Given the description of an element on the screen output the (x, y) to click on. 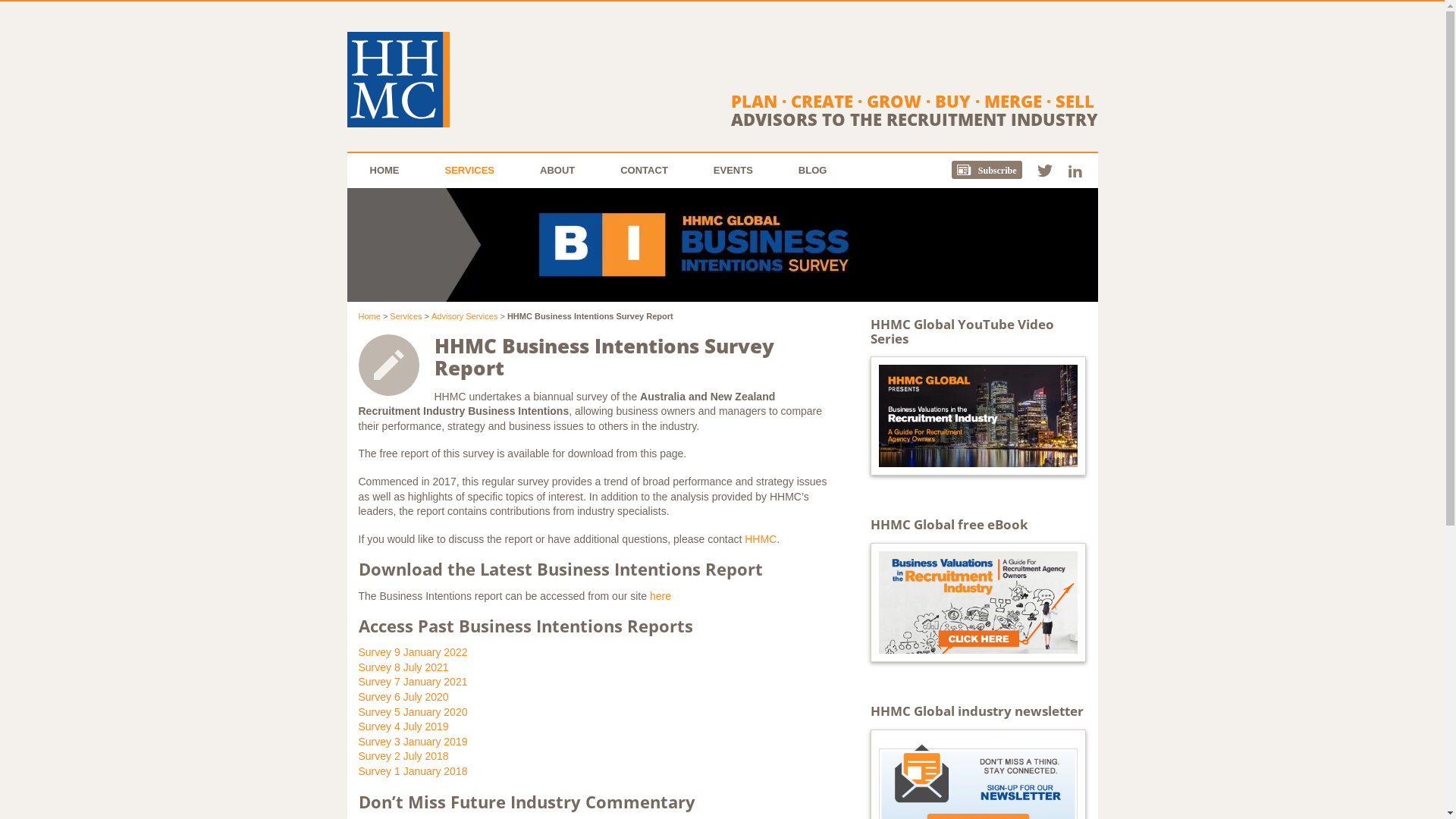
Subscribe Element type: text (994, 170)
SERVICES Element type: text (469, 170)
Survey 1 January 2018 Element type: text (412, 771)
HHMC Element type: text (760, 539)
Survey 2 July 2018 Element type: text (402, 755)
here Element type: text (660, 595)
Home Element type: text (368, 315)
Survey 4 July 2019 Element type: text (402, 726)
CRO Element type: hover (398, 79)
Survey 9 January 2022 Element type: text (412, 652)
Survey 3 January 2019 Element type: text (412, 741)
Advisory Services Element type: text (464, 315)
Survey 7 January 2021 Element type: text (412, 681)
Survey 5 January 2020 Element type: text (412, 712)
EVENTS Element type: text (732, 170)
BLOG Element type: text (812, 170)
ABOUT Element type: text (557, 170)
CONTACT Element type: text (643, 170)
HOME Element type: text (384, 170)
Survey 6 July 2020 Element type: text (402, 696)
Survey 8 July 2021 Element type: text (402, 667)
Services Element type: text (405, 315)
